Given the description of an element on the screen output the (x, y) to click on. 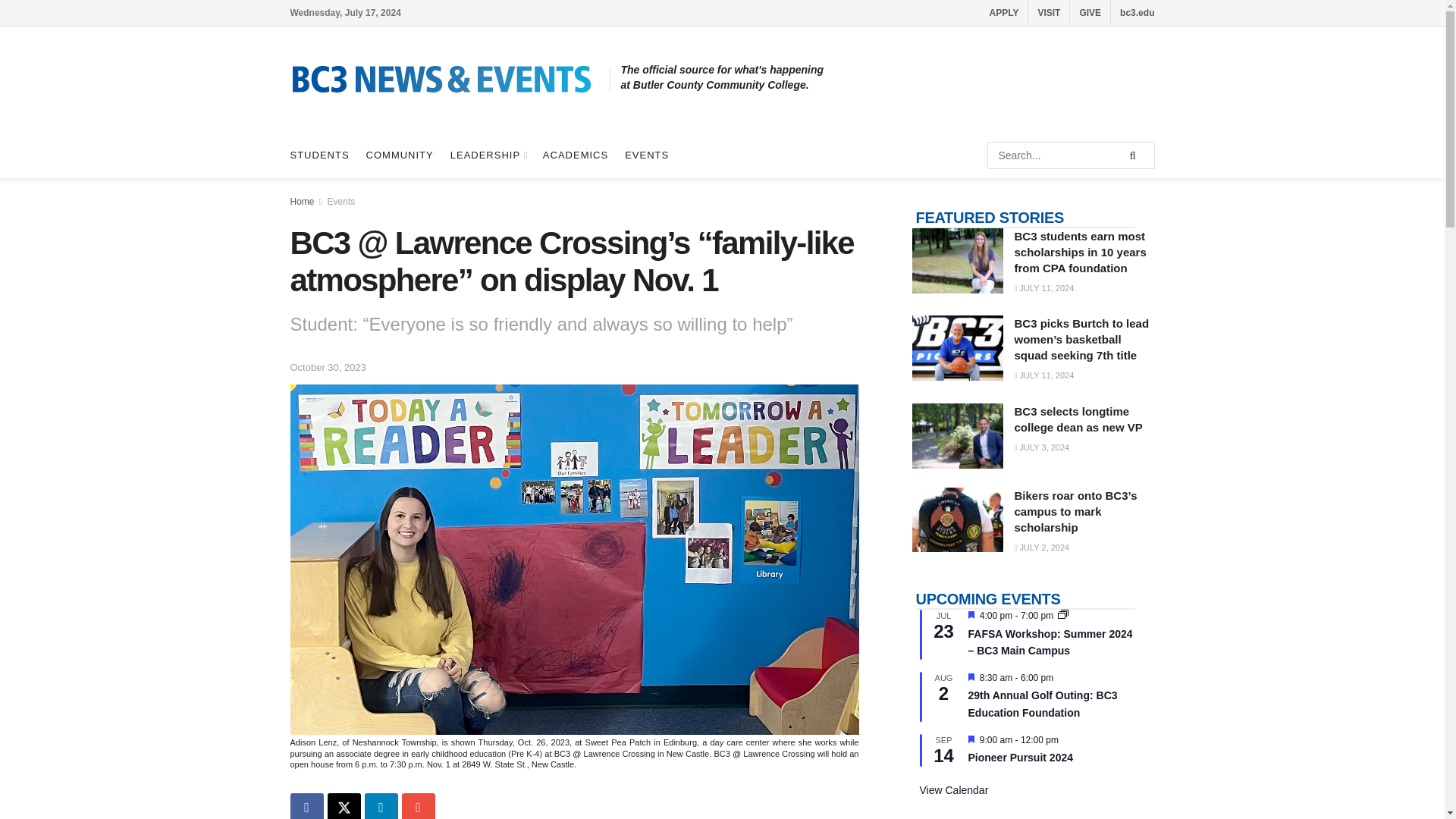
LEADERSHIP (487, 155)
ACADEMICS (575, 155)
GIVE (1089, 12)
29th Annual Golf Outing: BC3 Education Foundation (1042, 704)
EVENTS (646, 155)
STUDENTS (319, 155)
View more events. (953, 789)
Home (301, 201)
VISIT (1047, 12)
Events (341, 201)
October 30, 2023 (327, 367)
Event Series (1063, 615)
Pioneer Pursuit 2024 (1020, 757)
Event Series (1063, 614)
bc3.edu (1136, 12)
